Given the description of an element on the screen output the (x, y) to click on. 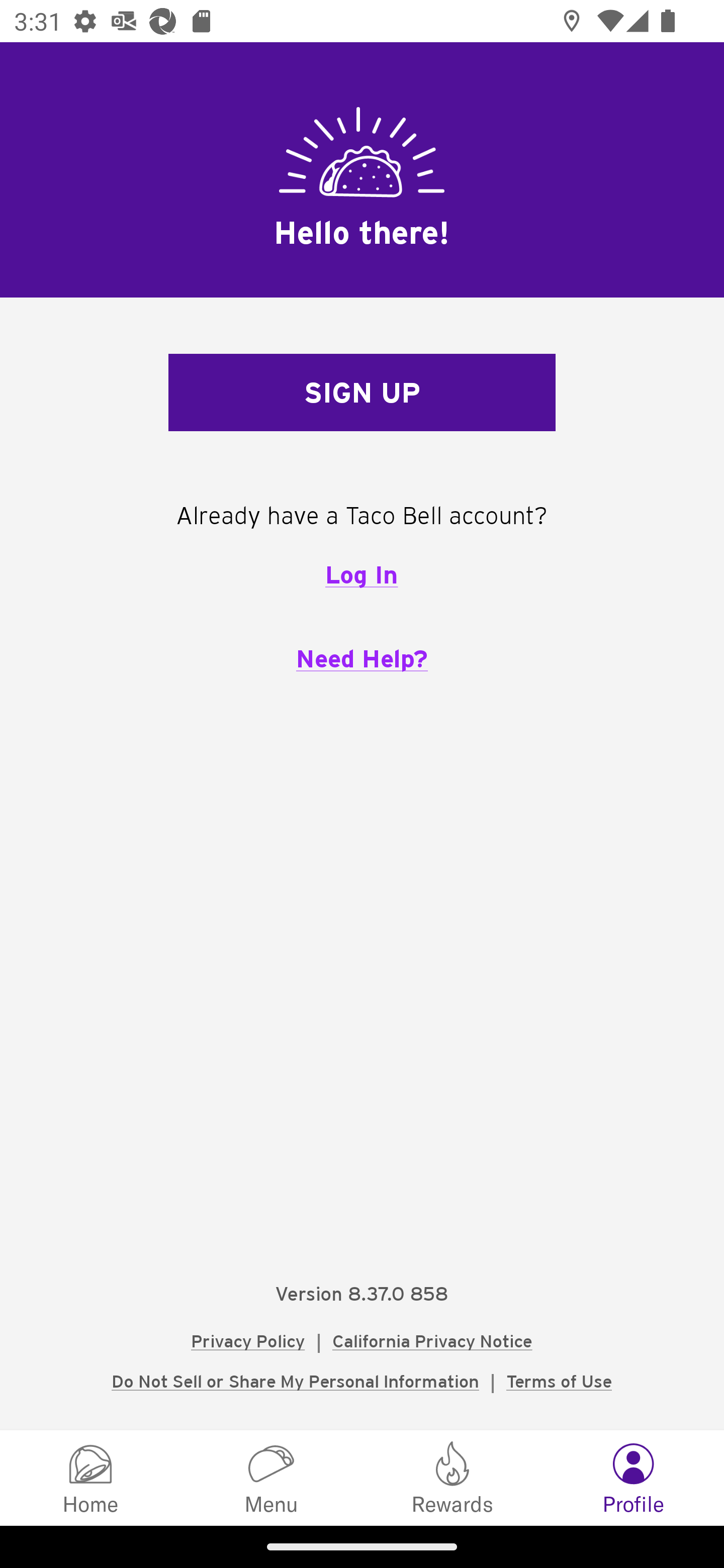
SIGN UP (361, 392)
Log In (361, 574)
Need Help? (361, 658)
Privacy Policy (248, 1341)
California Privacy Notice (432, 1341)
Do Not Sell or Share My Personal Information (295, 1381)
Terms of Use (558, 1381)
Home (90, 1476)
Menu (271, 1476)
Rewards (452, 1476)
My Info Profile (633, 1476)
